Given the description of an element on the screen output the (x, y) to click on. 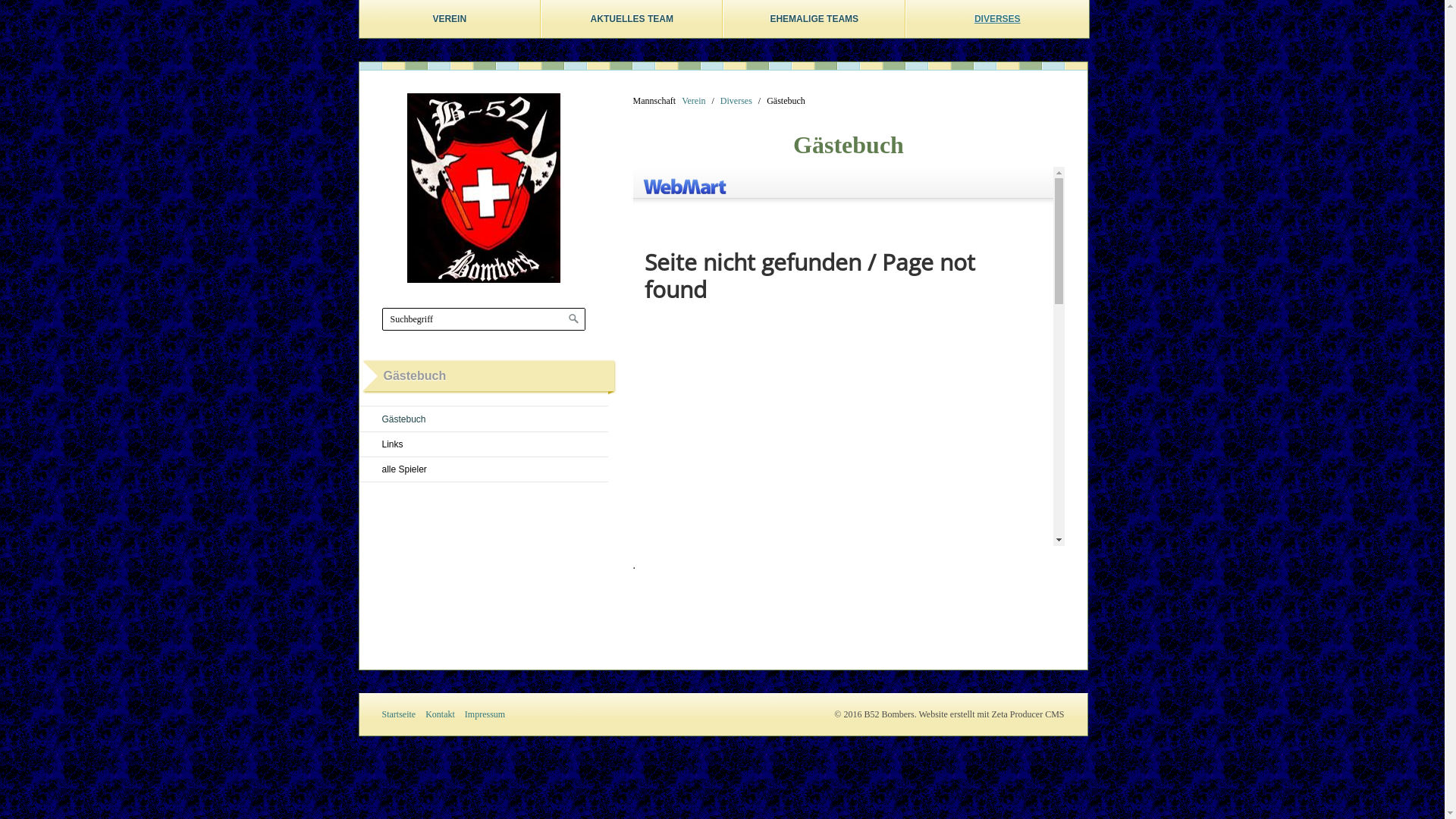
Impressum Element type: text (488, 714)
Diverses Element type: text (736, 100)
Startseite Element type: text (402, 714)
Verein Element type: text (693, 100)
alle Spieler Element type: text (483, 469)
VEREIN Element type: text (449, 18)
Kontakt Element type: text (443, 714)
DIVERSES Element type: text (997, 18)
EHEMALIGE TEAMS Element type: text (813, 18)
AKTUELLES TEAM Element type: text (631, 18)
Website erstellt mit Zeta Producer CMS Element type: text (991, 714)
Links Element type: text (483, 444)
